Given the description of an element on the screen output the (x, y) to click on. 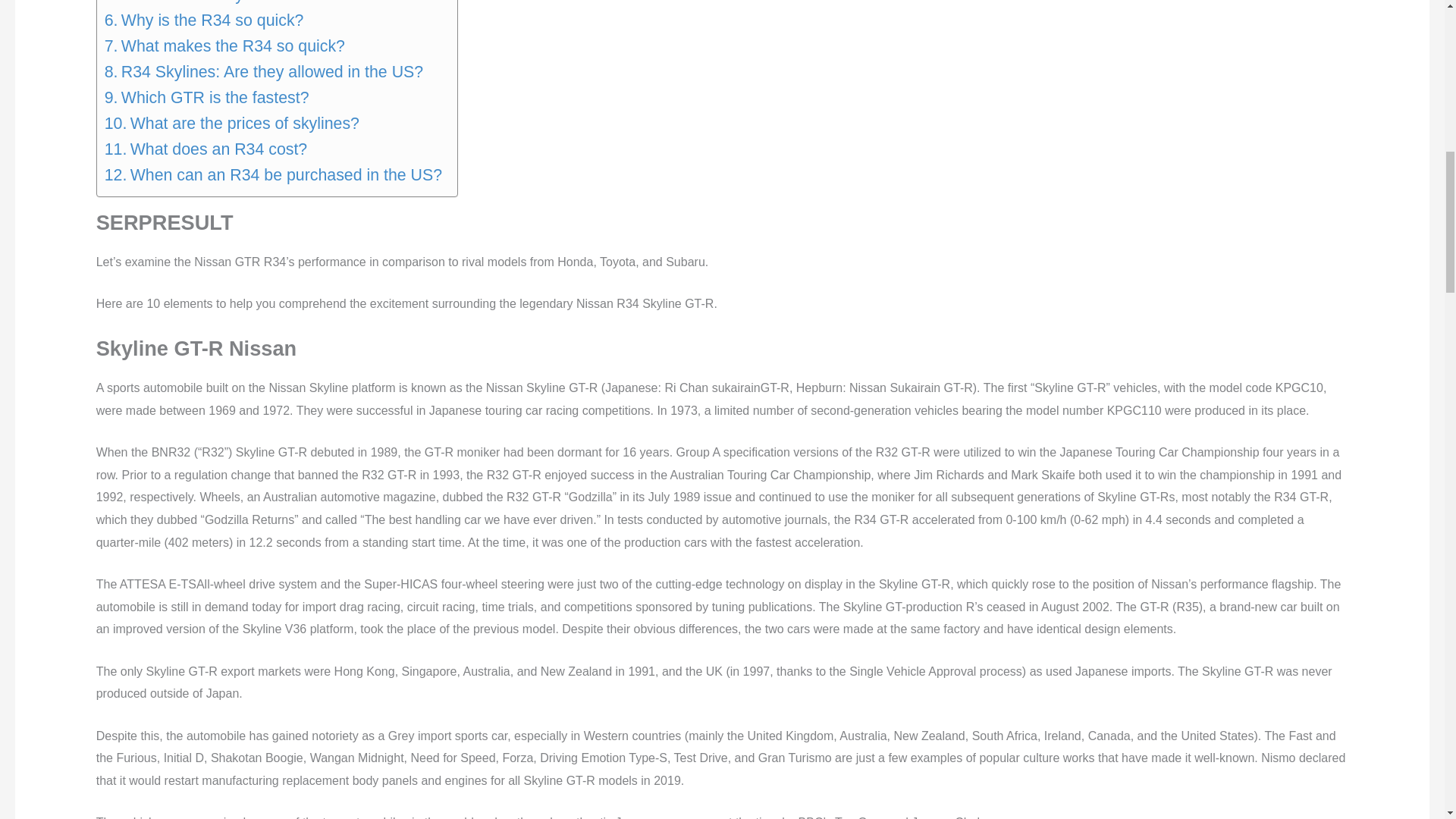
What does a Skyline R34 cost? (225, 3)
What does an R34 cost? (205, 149)
Why is the R34 so quick? (204, 20)
Which GTR is the fastest? (206, 97)
What does a Skyline R34 cost? (225, 3)
What makes the R34 so quick? (224, 45)
What are the prices of skylines? (231, 123)
Which GTR is the fastest? (206, 97)
What makes the R34 so quick? (224, 45)
When can an R34 be purchased in the US? (273, 175)
